Given the description of an element on the screen output the (x, y) to click on. 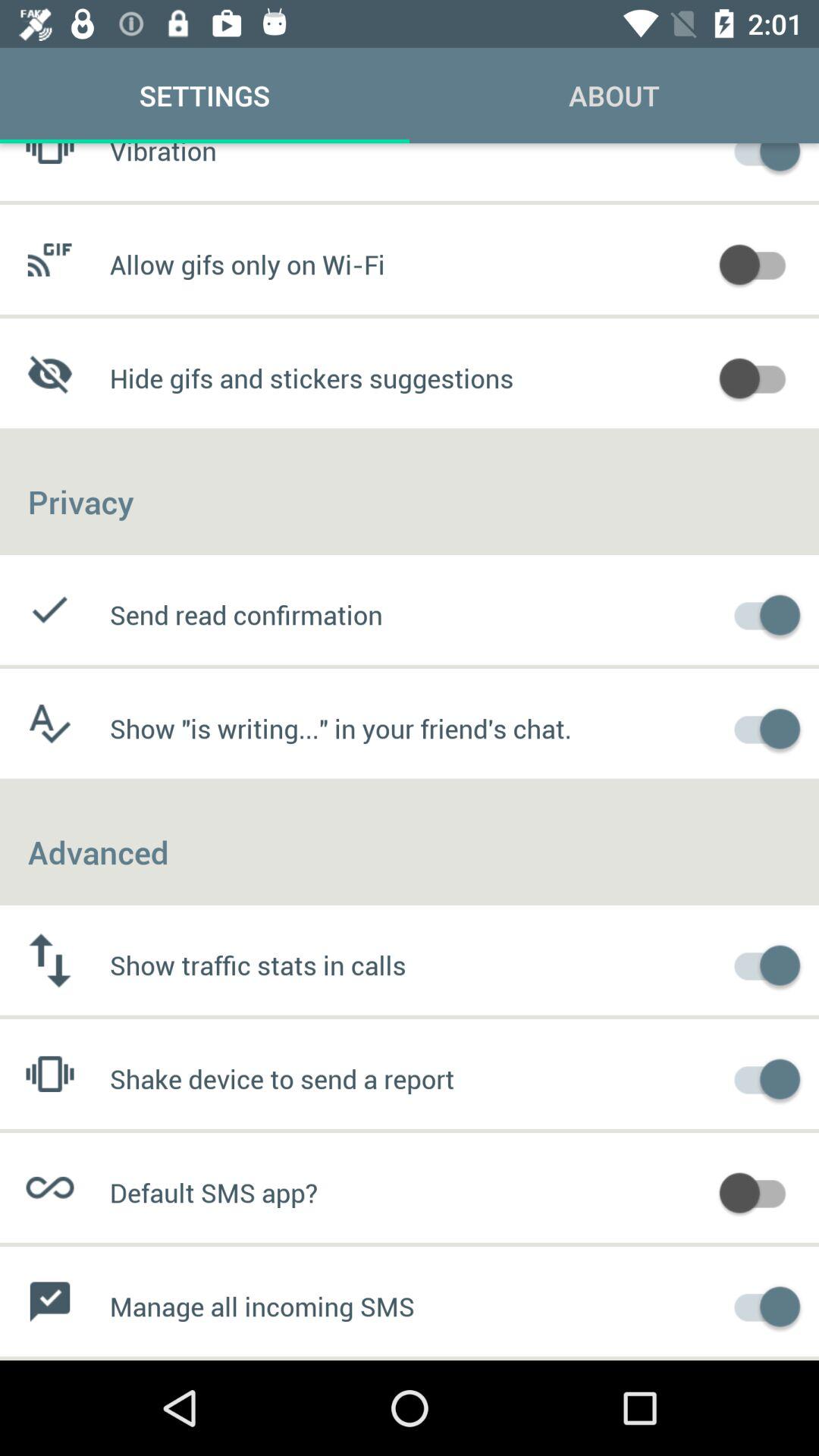
toggle default sms app option (759, 1191)
